Given the description of an element on the screen output the (x, y) to click on. 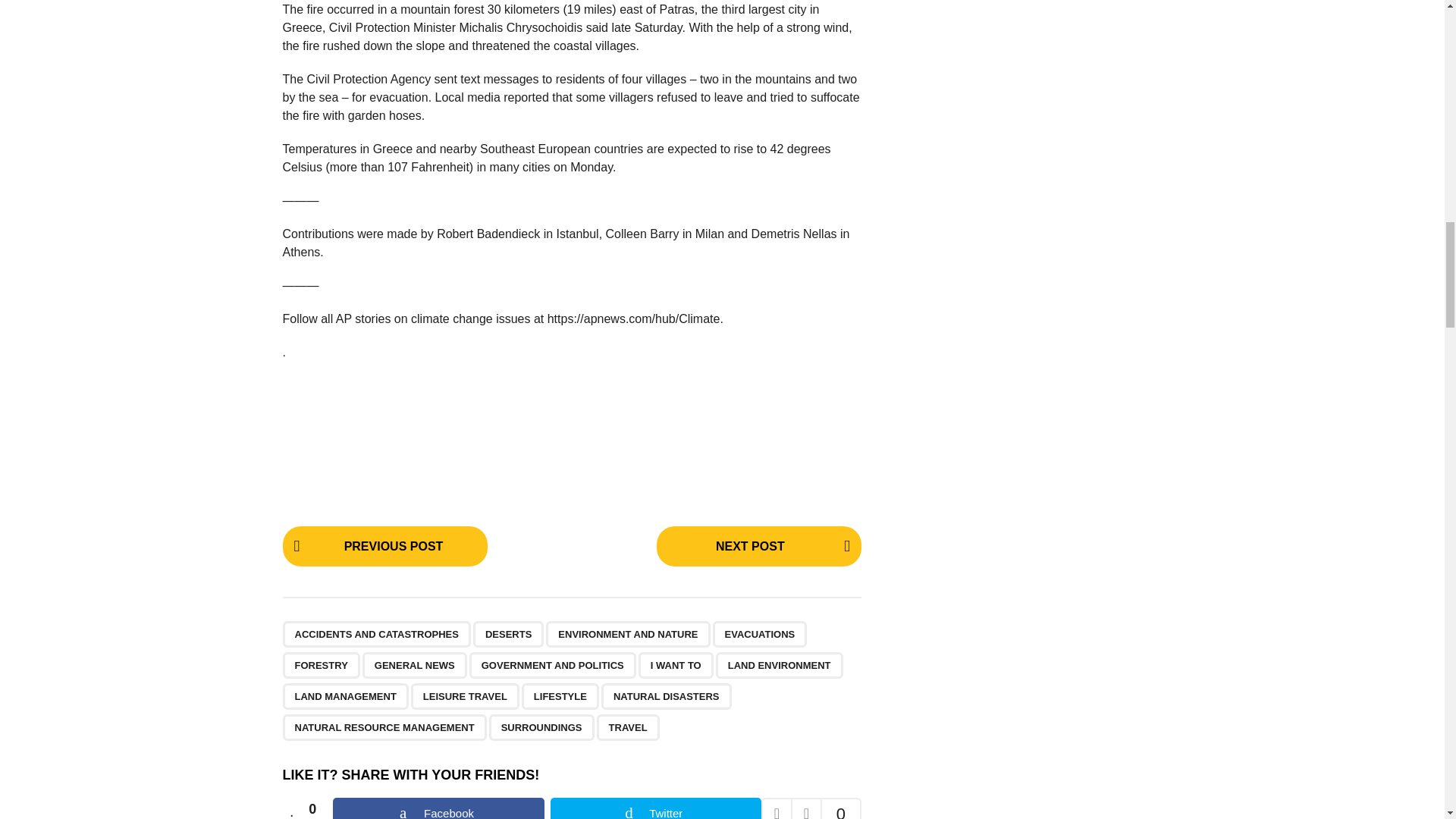
FORESTRY (320, 664)
ACCIDENTS AND CATASTROPHES (376, 633)
DESERTS (508, 633)
GOVERNMENT AND POLITICS (552, 664)
EVACUATIONS (760, 633)
Share on Twitter (655, 808)
PREVIOUS POST (384, 546)
ENVIRONMENT AND NATURE (628, 633)
NEXT POST (758, 546)
GENERAL NEWS (414, 664)
Share on Facebook (438, 808)
